Given the description of an element on the screen output the (x, y) to click on. 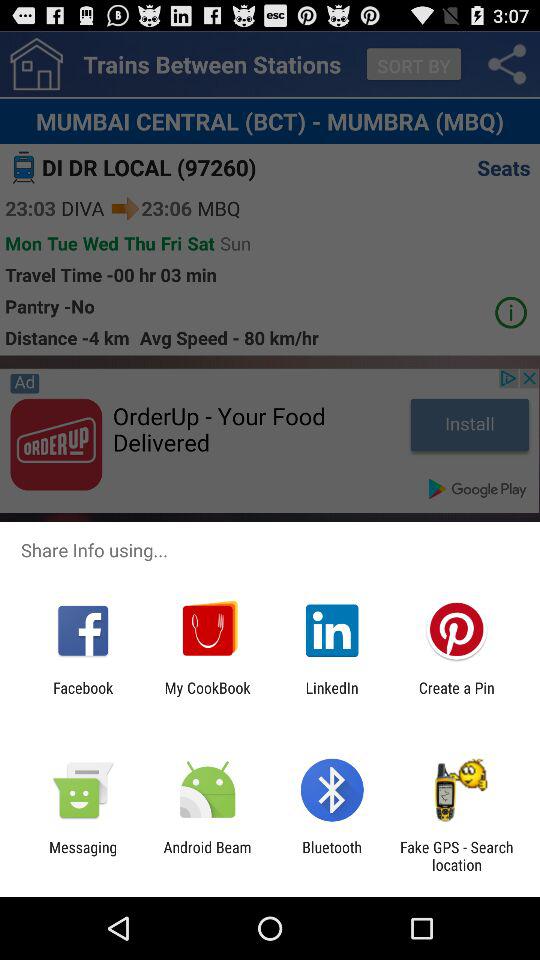
open the item next to fake gps search app (331, 856)
